Given the description of an element on the screen output the (x, y) to click on. 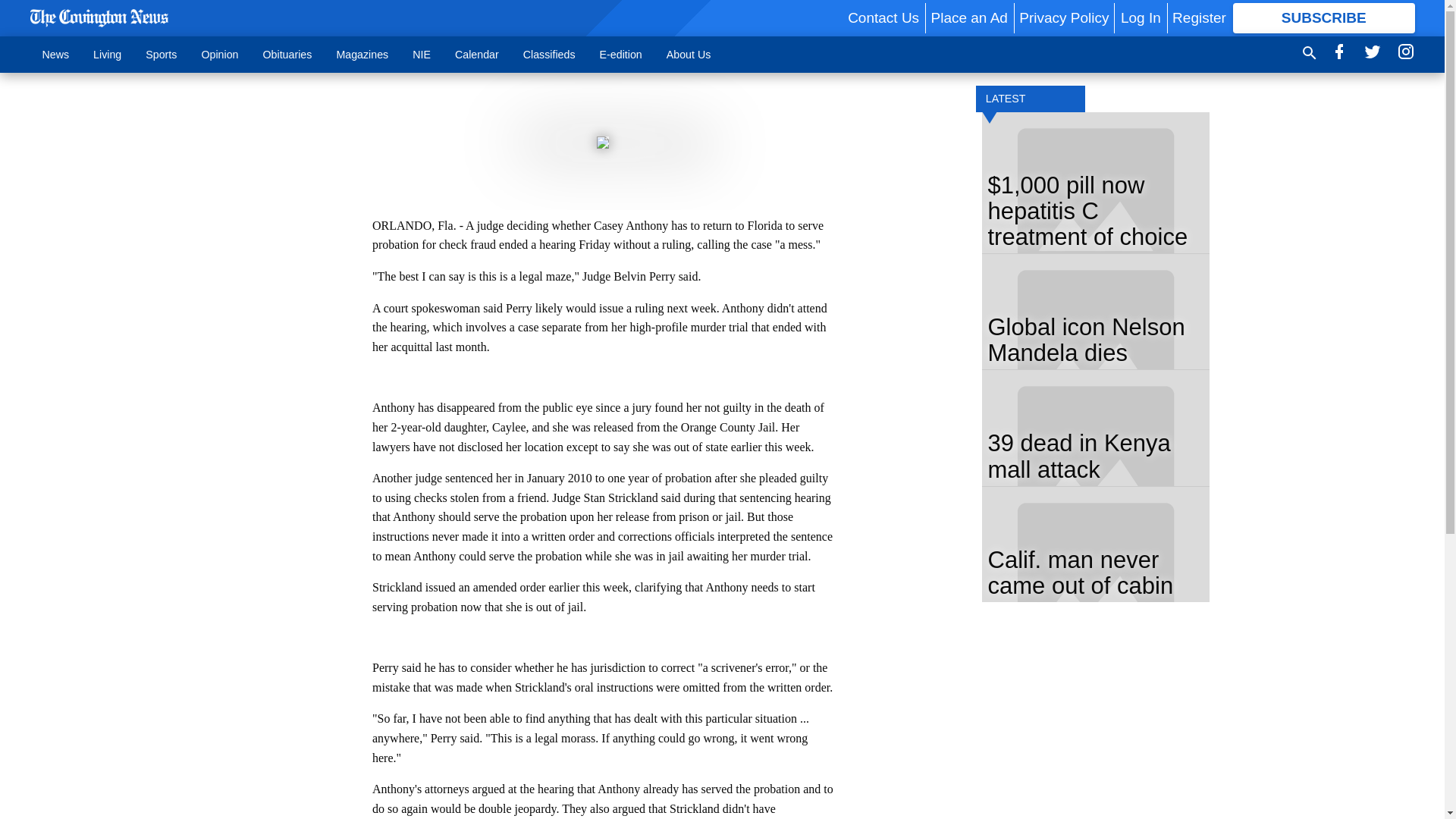
Log In (1140, 17)
News (55, 54)
Sports (161, 54)
Place an Ad (968, 17)
Contact Us (882, 17)
Register (1198, 17)
Privacy Policy (1063, 17)
Living (107, 54)
SUBSCRIBE (1324, 18)
